Given the description of an element on the screen output the (x, y) to click on. 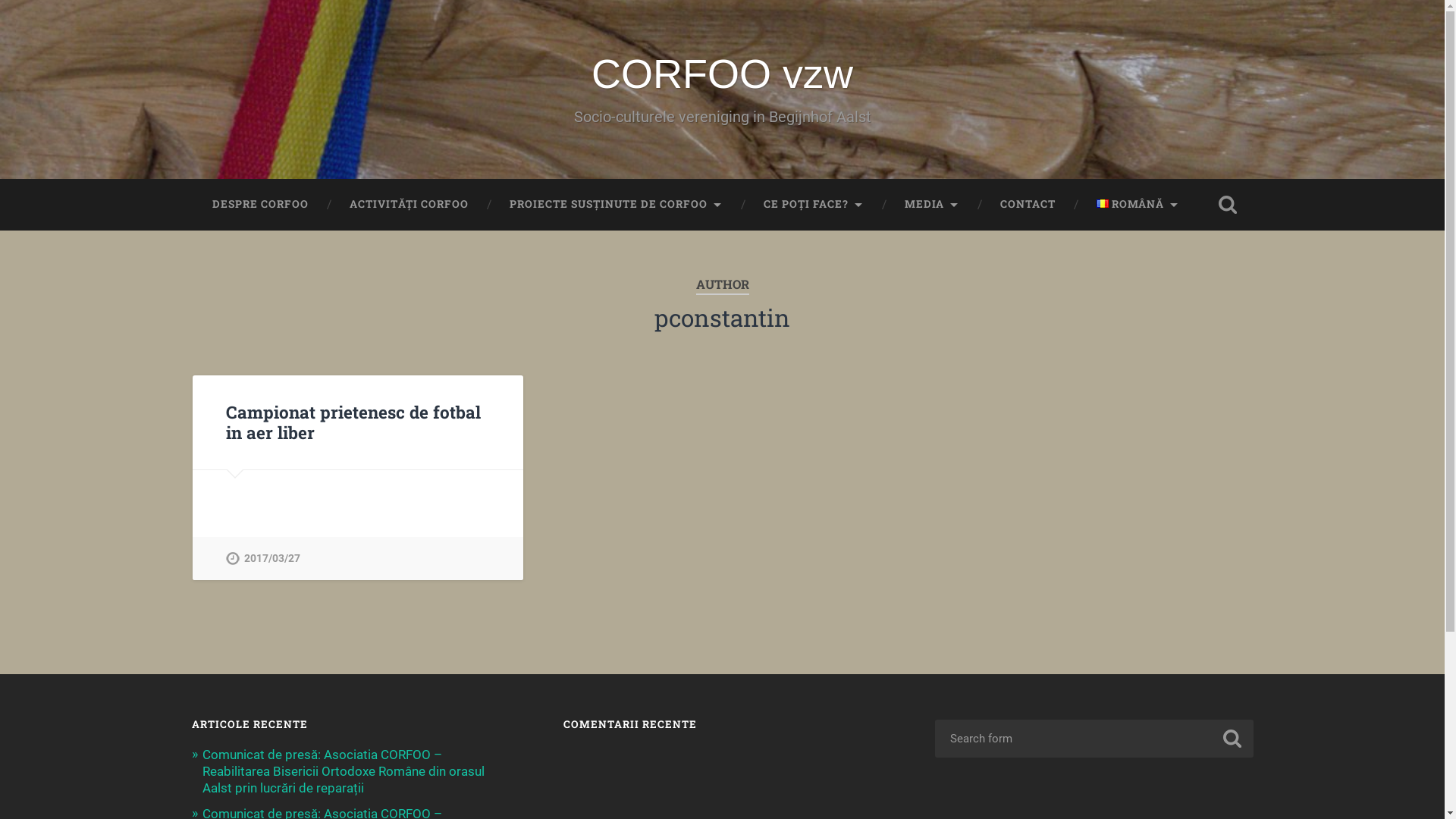
DESPRE CORFOO Element type: text (259, 204)
CORFOO vzw Element type: text (722, 73)
MEDIA Element type: text (931, 204)
Search Element type: text (1231, 738)
2017/03/27 Element type: text (262, 558)
CONTACT Element type: text (1027, 204)
Campionat prietenesc de fotbal in aer liber Element type: text (352, 421)
